Given the description of an element on the screen output the (x, y) to click on. 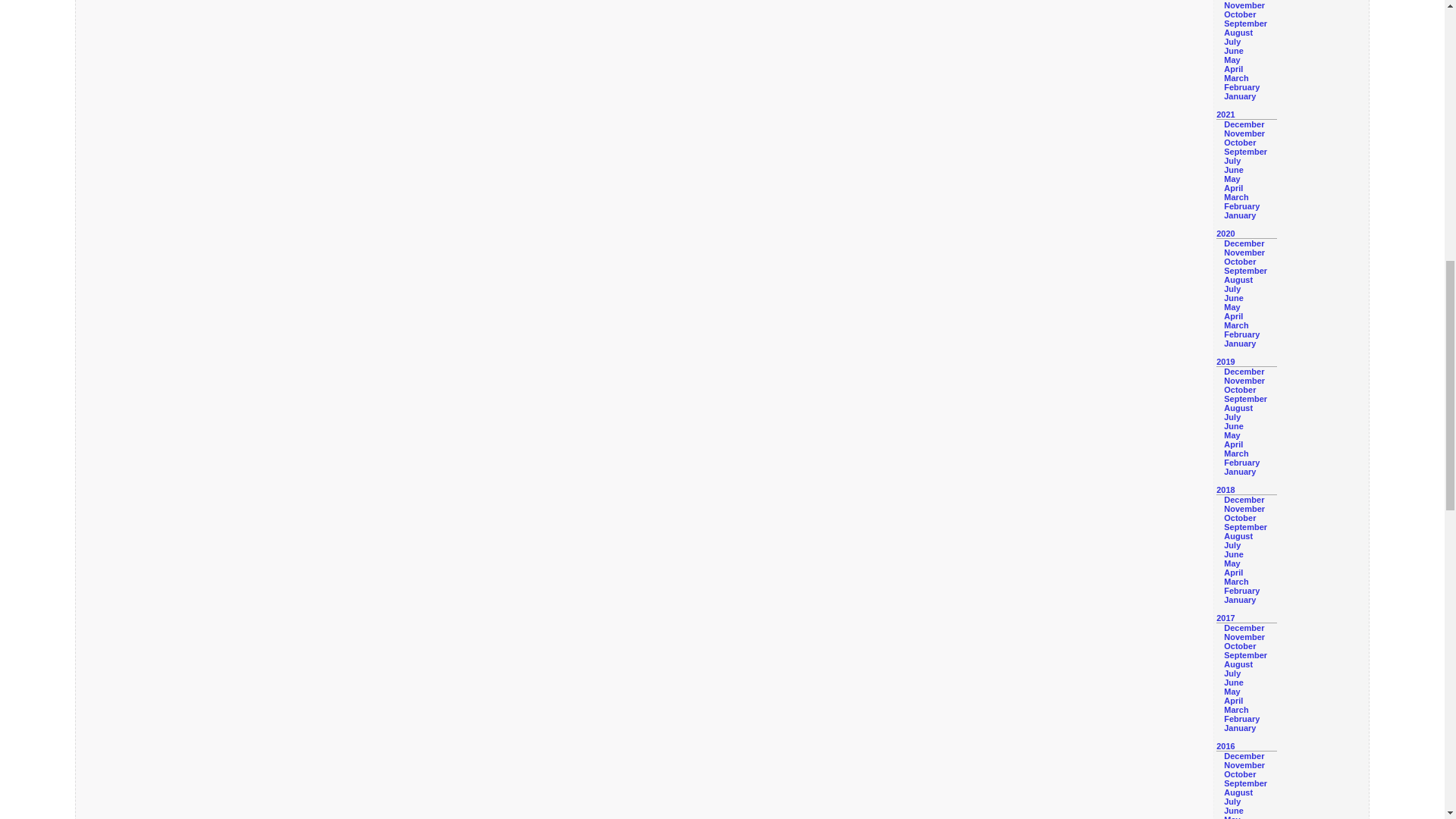
February (1241, 86)
July (1232, 40)
December (1243, 123)
January (1239, 95)
2021 (1224, 113)
October (1239, 13)
July (1232, 160)
August (1238, 31)
October (1239, 142)
April (1233, 68)
March (1235, 77)
May (1232, 59)
November (1244, 133)
September (1245, 151)
